Given the description of an element on the screen output the (x, y) to click on. 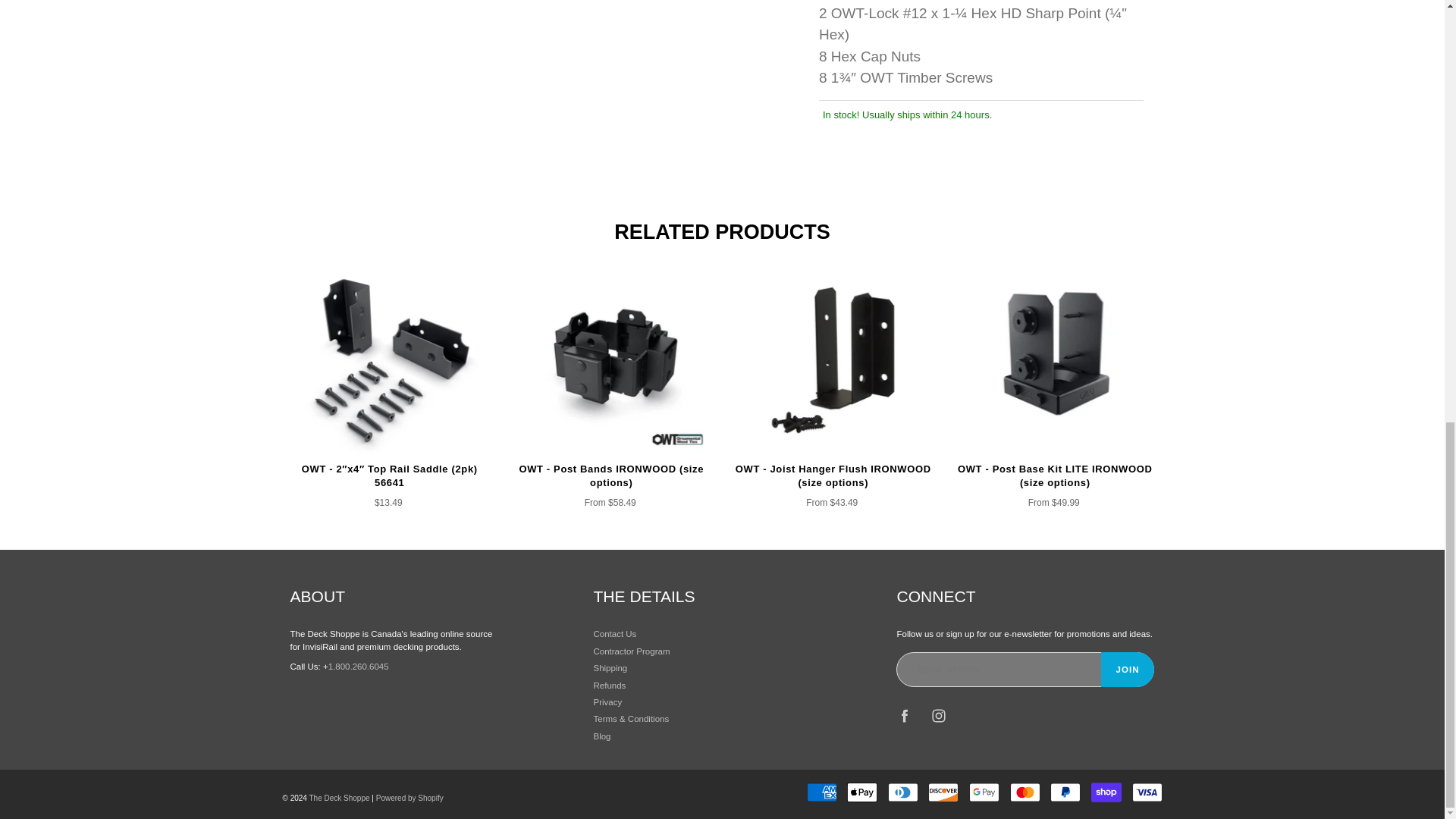
Mastercard (1025, 792)
Facebook (904, 714)
Google Pay (983, 792)
American Express (821, 792)
tel:18002606045 (358, 665)
Discover (943, 792)
Shop Pay (1105, 792)
PayPal (1064, 792)
Diners Club (903, 792)
Apple Pay (862, 792)
Visa (1146, 792)
Instagram (939, 714)
